Given the description of an element on the screen output the (x, y) to click on. 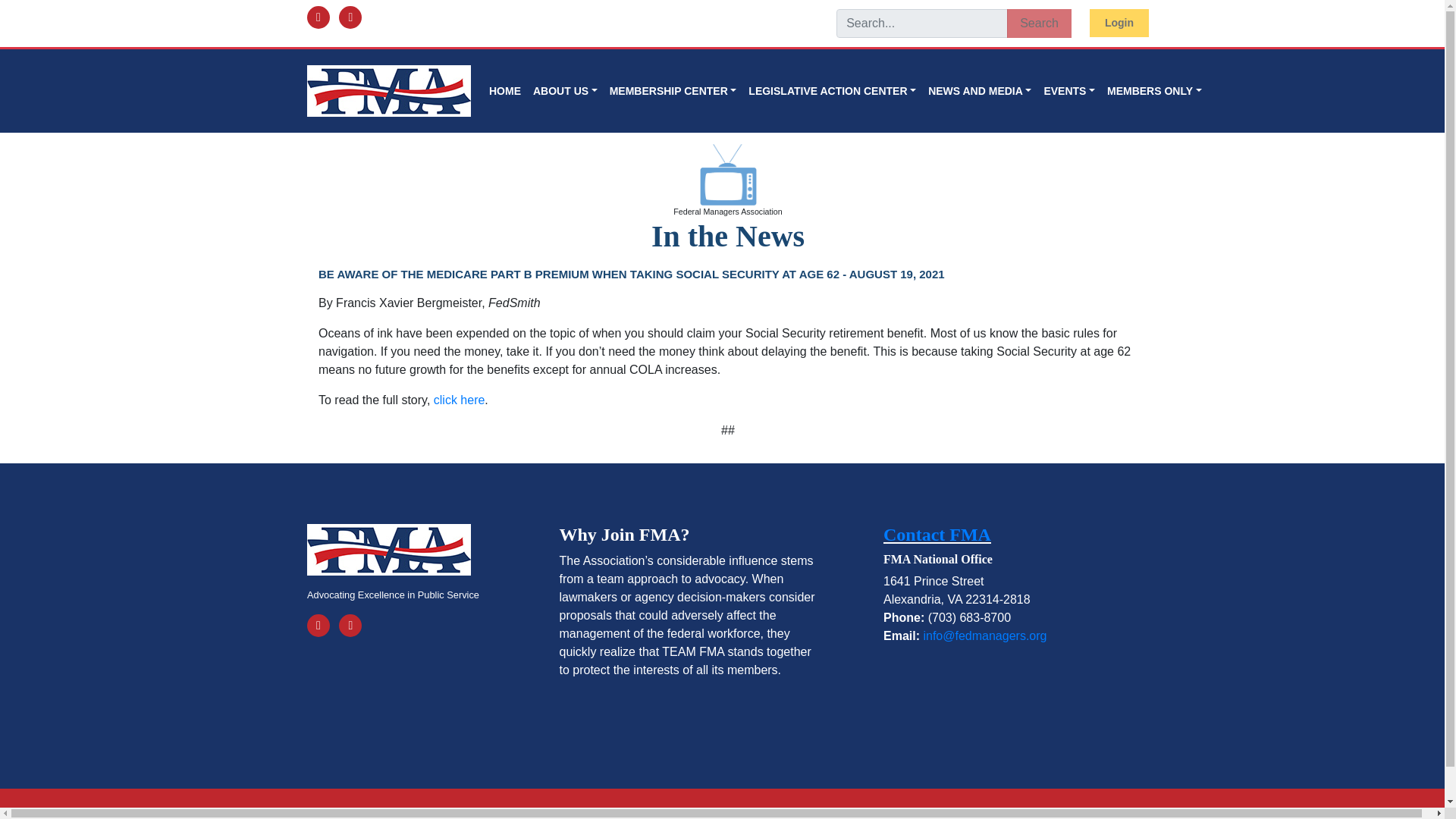
HOME (505, 90)
MEMBERSHIP CENTER (673, 90)
LEGISLATIVE ACTION CENTER (831, 90)
Search (1039, 23)
ABOUT US (565, 90)
Login (1118, 22)
